Given the description of an element on the screen output the (x, y) to click on. 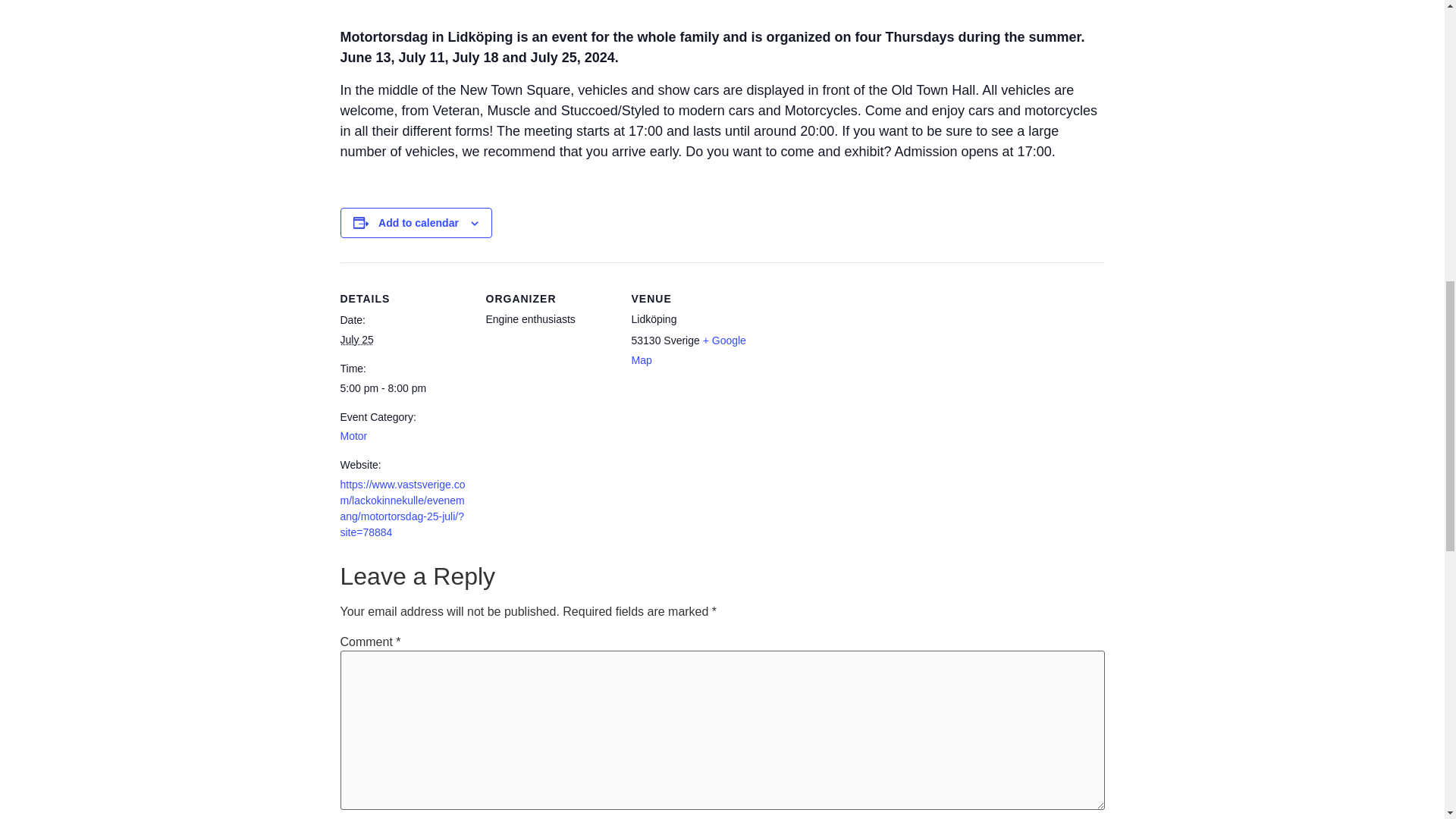
2024-07-25 (403, 388)
Add to calendar (418, 223)
Click to view a Google Map (687, 350)
2024-07-25 (355, 339)
Motor (352, 435)
